Given the description of an element on the screen output the (x, y) to click on. 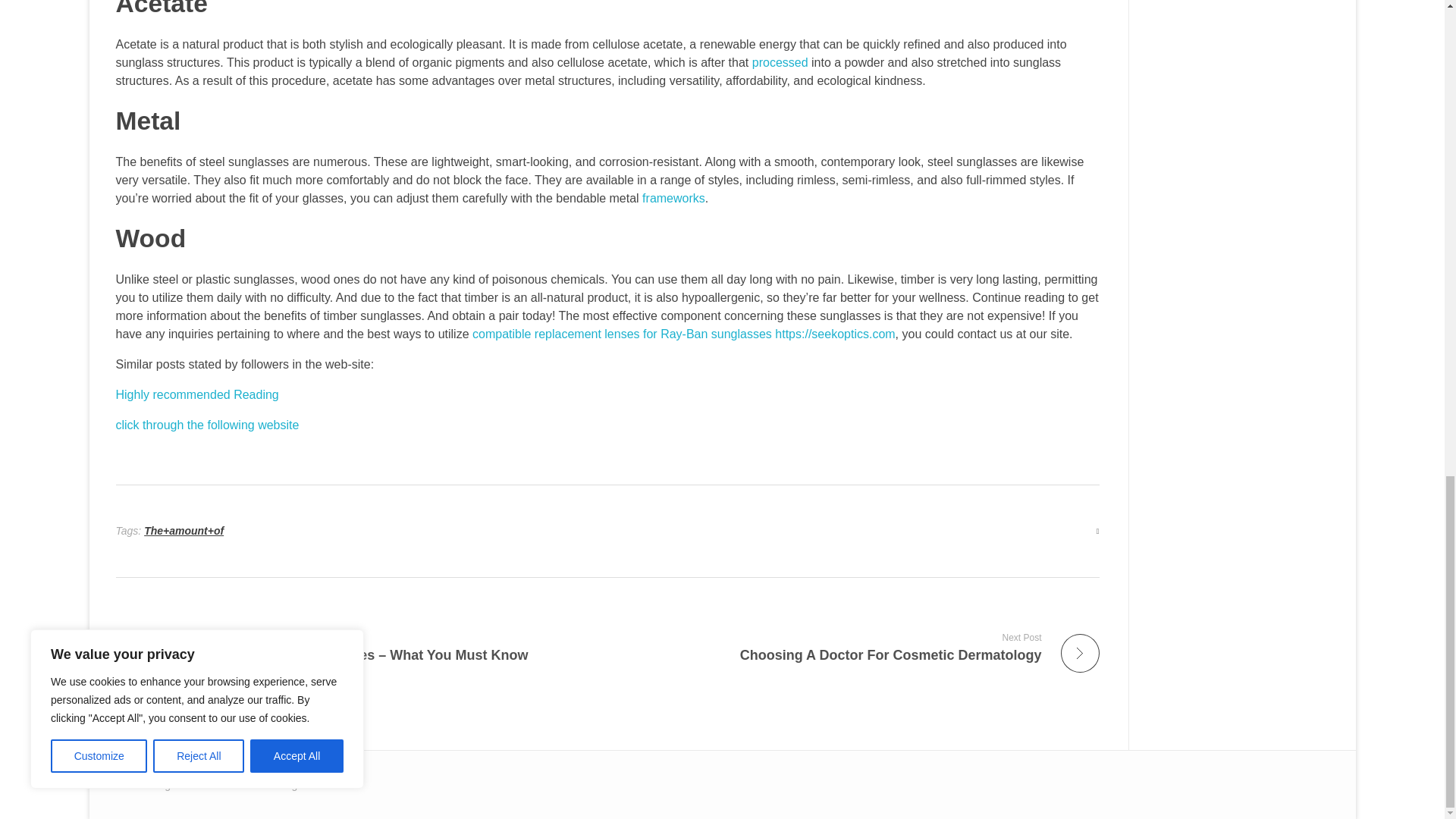
click through the following website (206, 424)
Highly recommended Reading (196, 394)
frameworks (673, 197)
processed (859, 646)
